Given the description of an element on the screen output the (x, y) to click on. 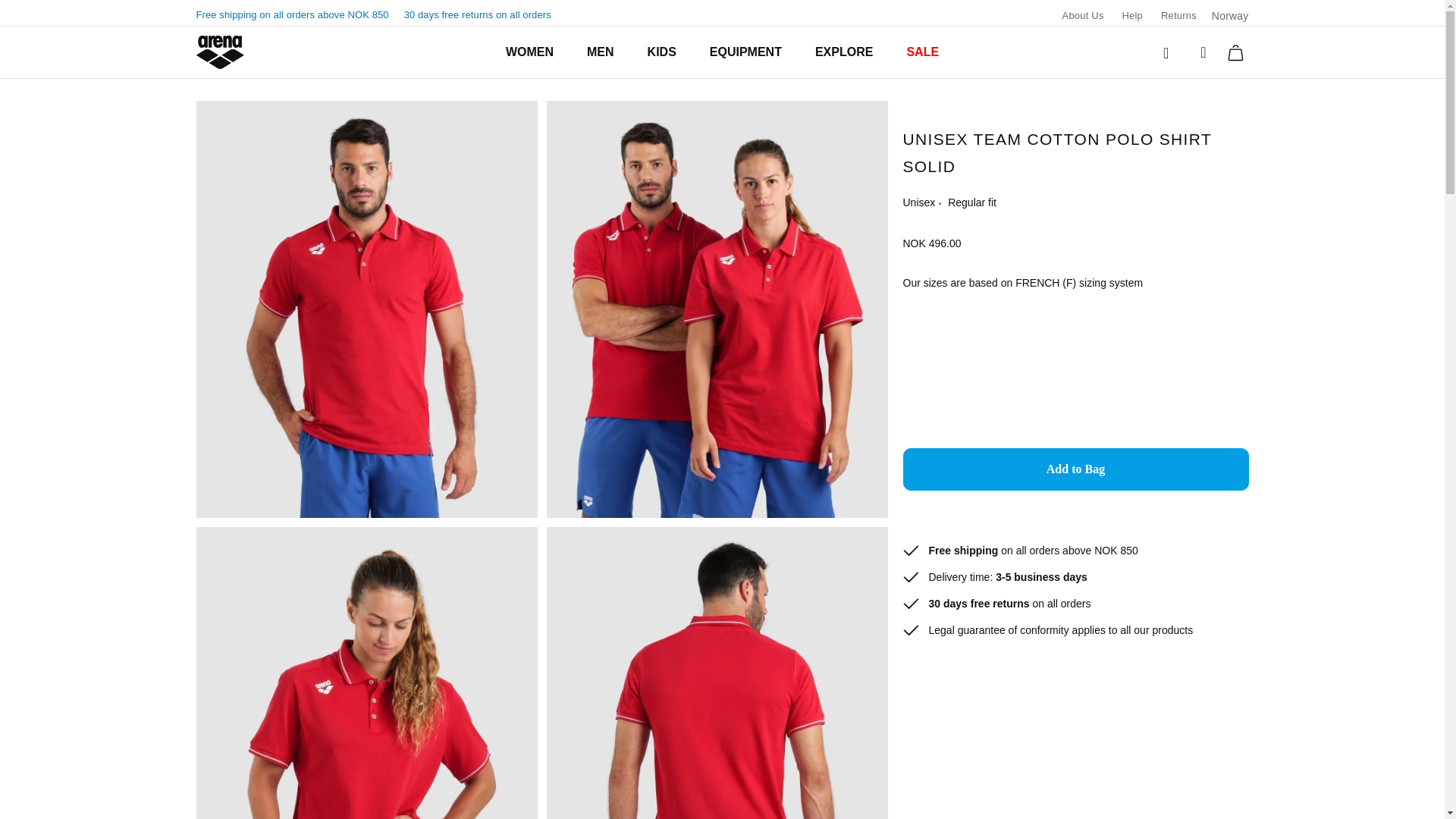
My Cart (1236, 51)
WOMEN (529, 51)
Help (1131, 15)
Norway (1230, 15)
About Us (1083, 15)
Add to Bag (1074, 468)
Arenasport (219, 51)
Arenasport (219, 52)
Returns (1178, 15)
